Given the description of an element on the screen output the (x, y) to click on. 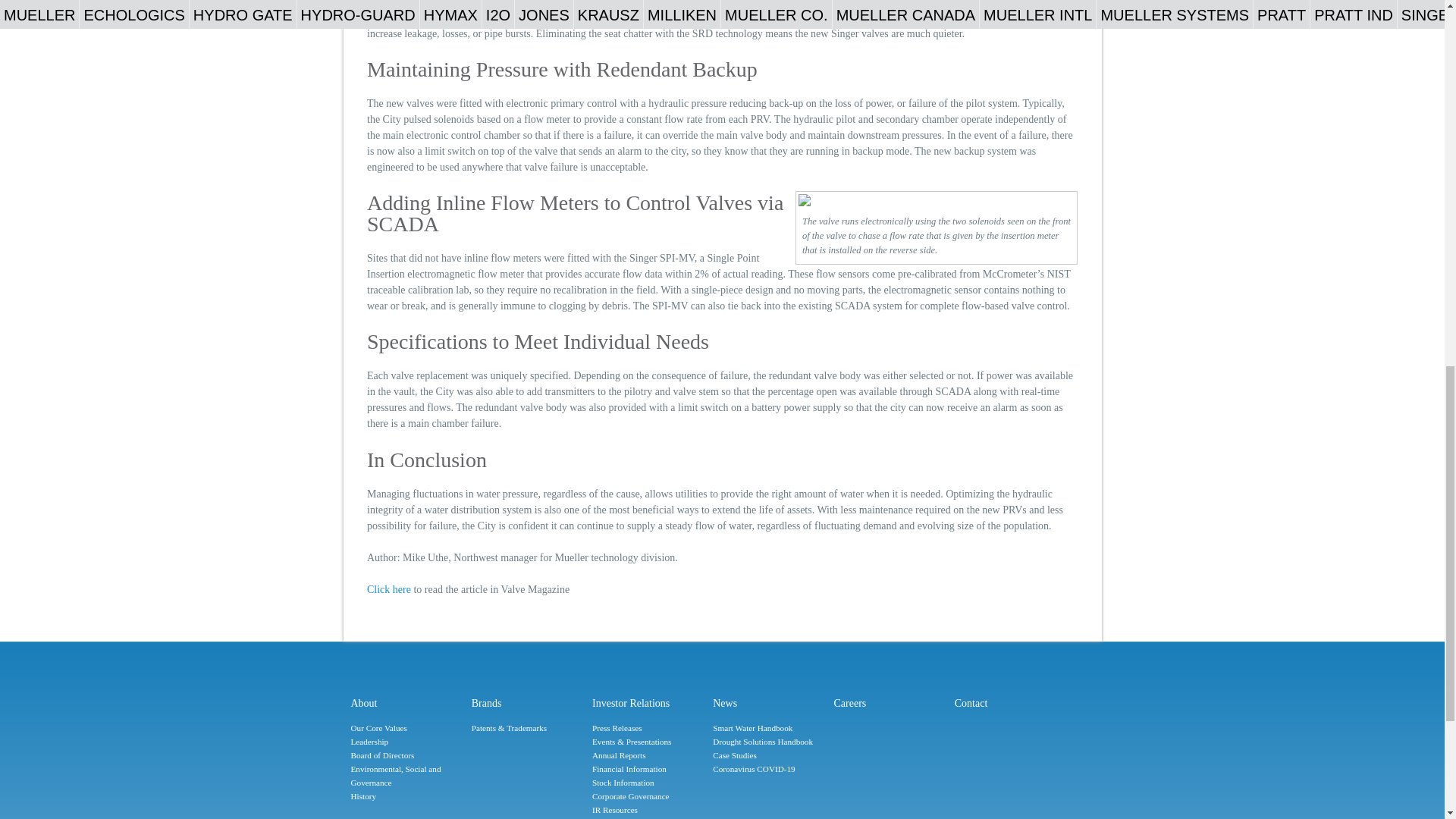
Brands (527, 703)
Board of Directors (405, 755)
Leadership (405, 742)
Environmental, Social and Governance (405, 776)
About (405, 703)
History (405, 796)
Our Core Values (405, 728)
Press Releases (647, 728)
Investor Relations (647, 703)
Click here (388, 589)
